Given the description of an element on the screen output the (x, y) to click on. 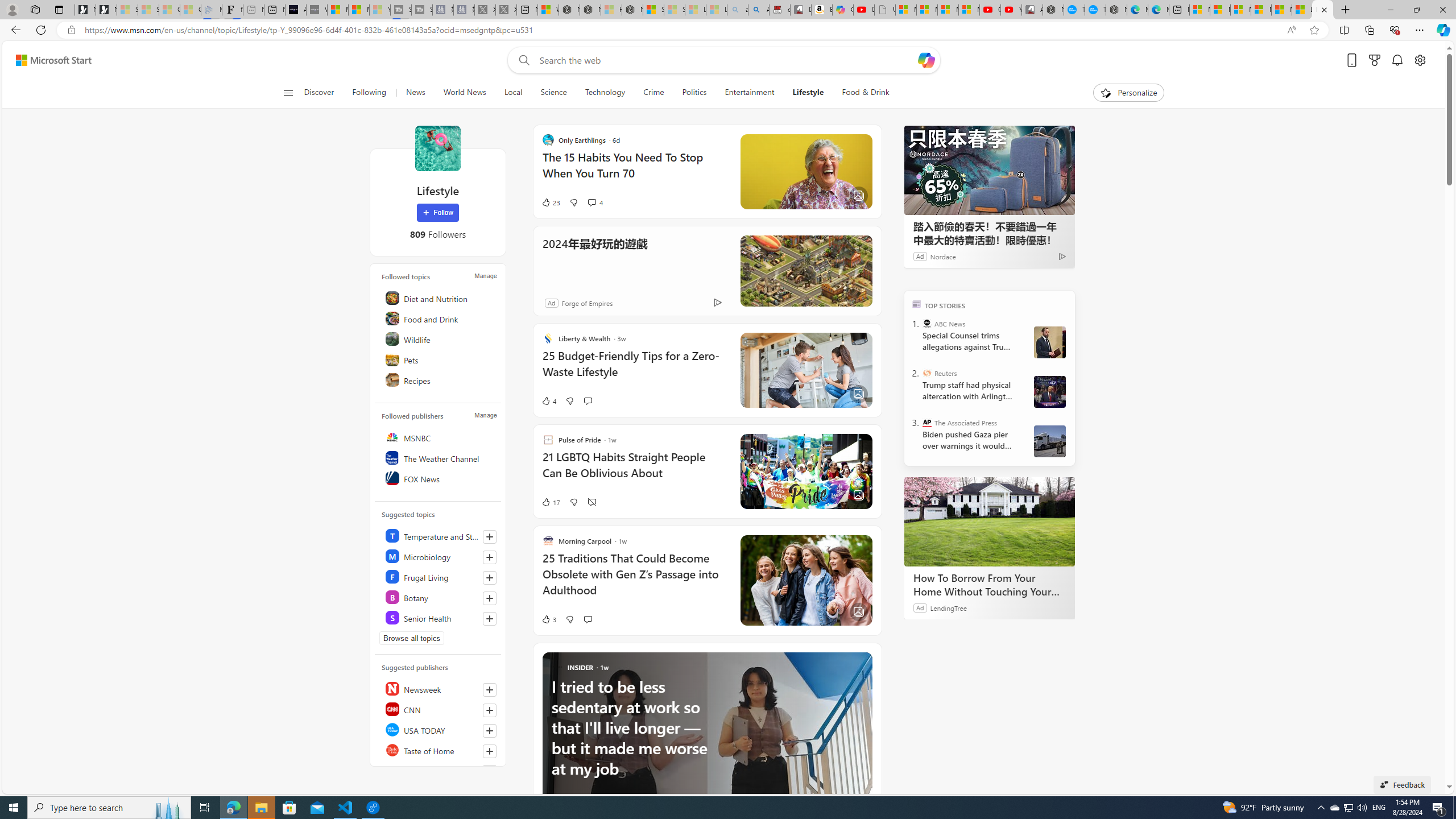
LendingTree (948, 607)
YouTube Kids - An App Created for Kids to Explore Content (1010, 9)
Follow this source (489, 751)
The Weather Channel (439, 457)
amazon - Search - Sleeping (737, 9)
Microsoft account | Microsoft Account Privacy Settings (1219, 9)
Nordace - Summer Adventures 2024 (590, 9)
Manage (485, 415)
